Given the description of an element on the screen output the (x, y) to click on. 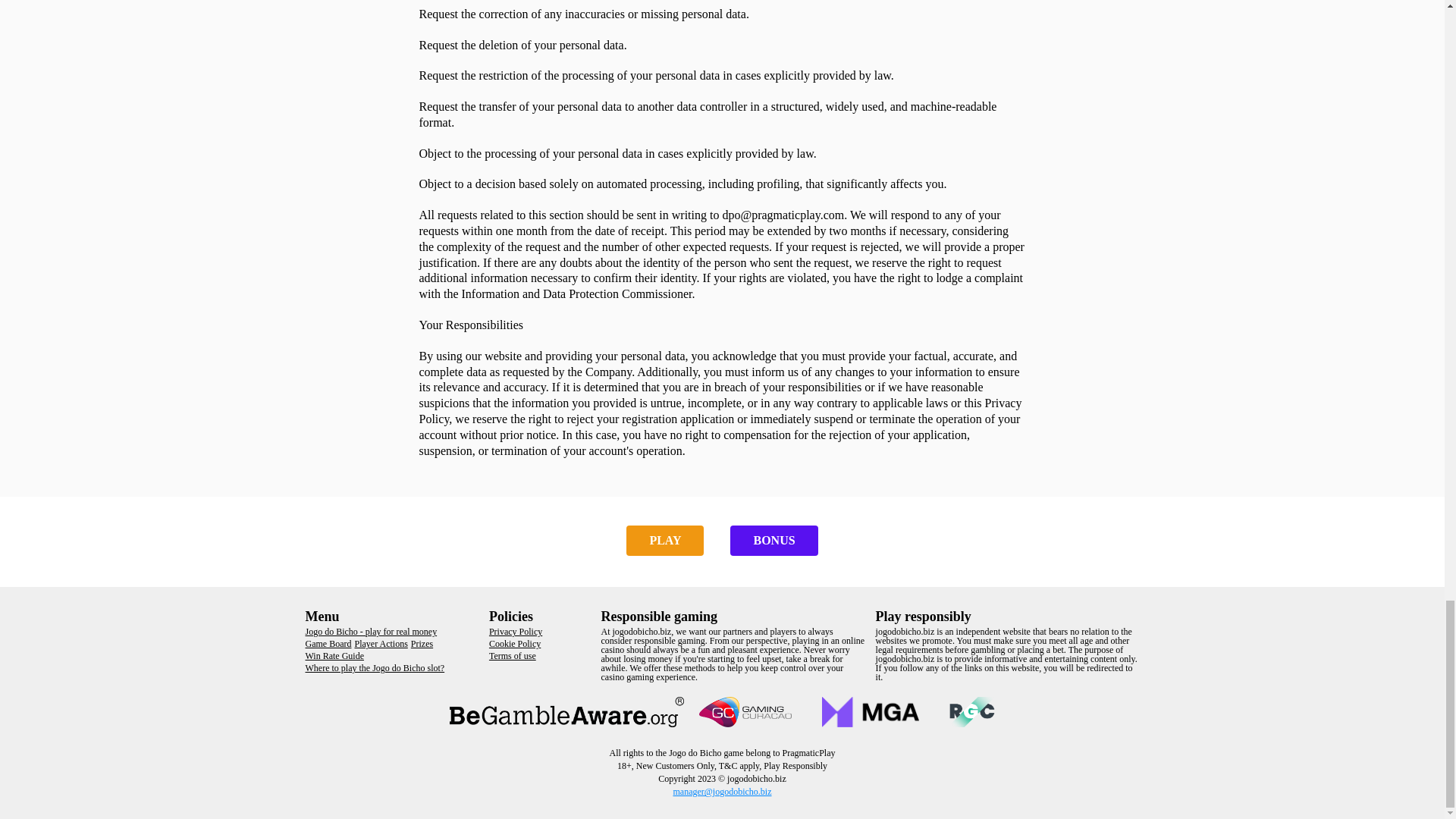
Jogo do Bicho - play for real money (370, 631)
Where to play the Jogo do Bicho slot? (374, 667)
Privacy Policy (515, 631)
Win Rate Guide (334, 655)
BONUS (773, 540)
Player Actions (380, 643)
PLAY (664, 540)
Game Board (327, 643)
Prizes (421, 643)
Cookie Policy (514, 643)
Terms of use (512, 655)
